Given the description of an element on the screen output the (x, y) to click on. 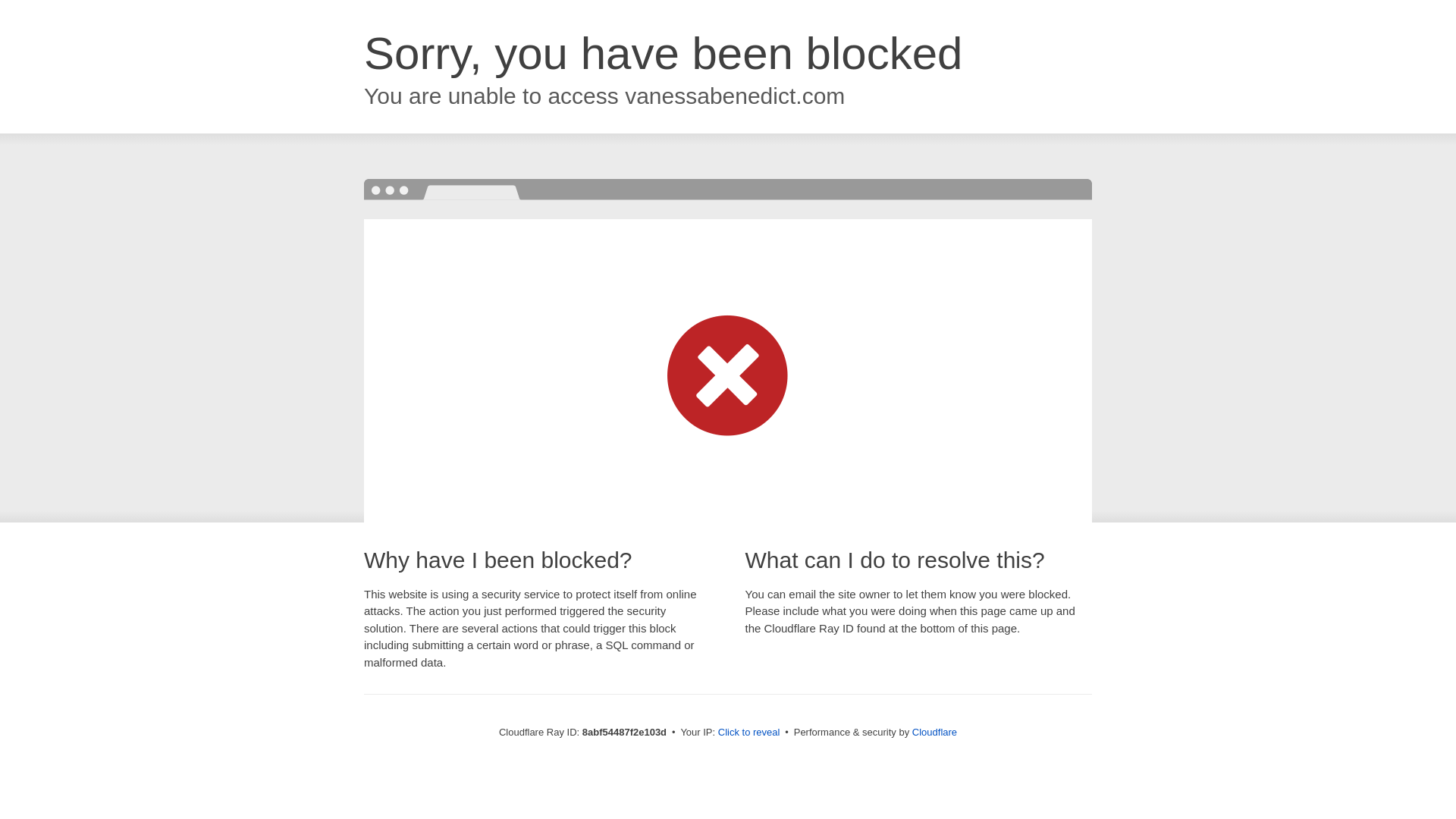
Cloudflare (934, 731)
Click to reveal (748, 732)
